Given the description of an element on the screen output the (x, y) to click on. 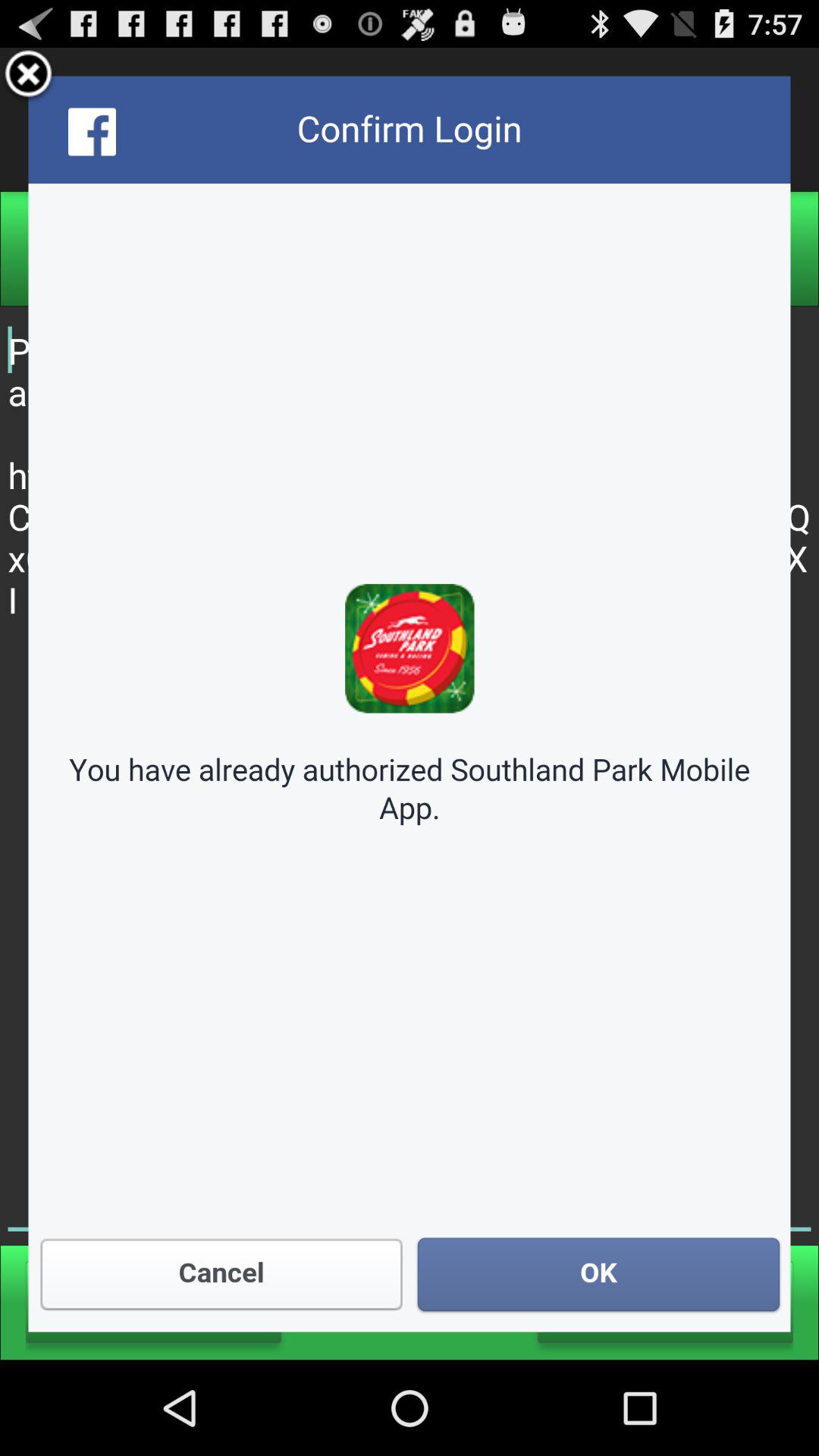
close popup (28, 75)
